Given the description of an element on the screen output the (x, y) to click on. 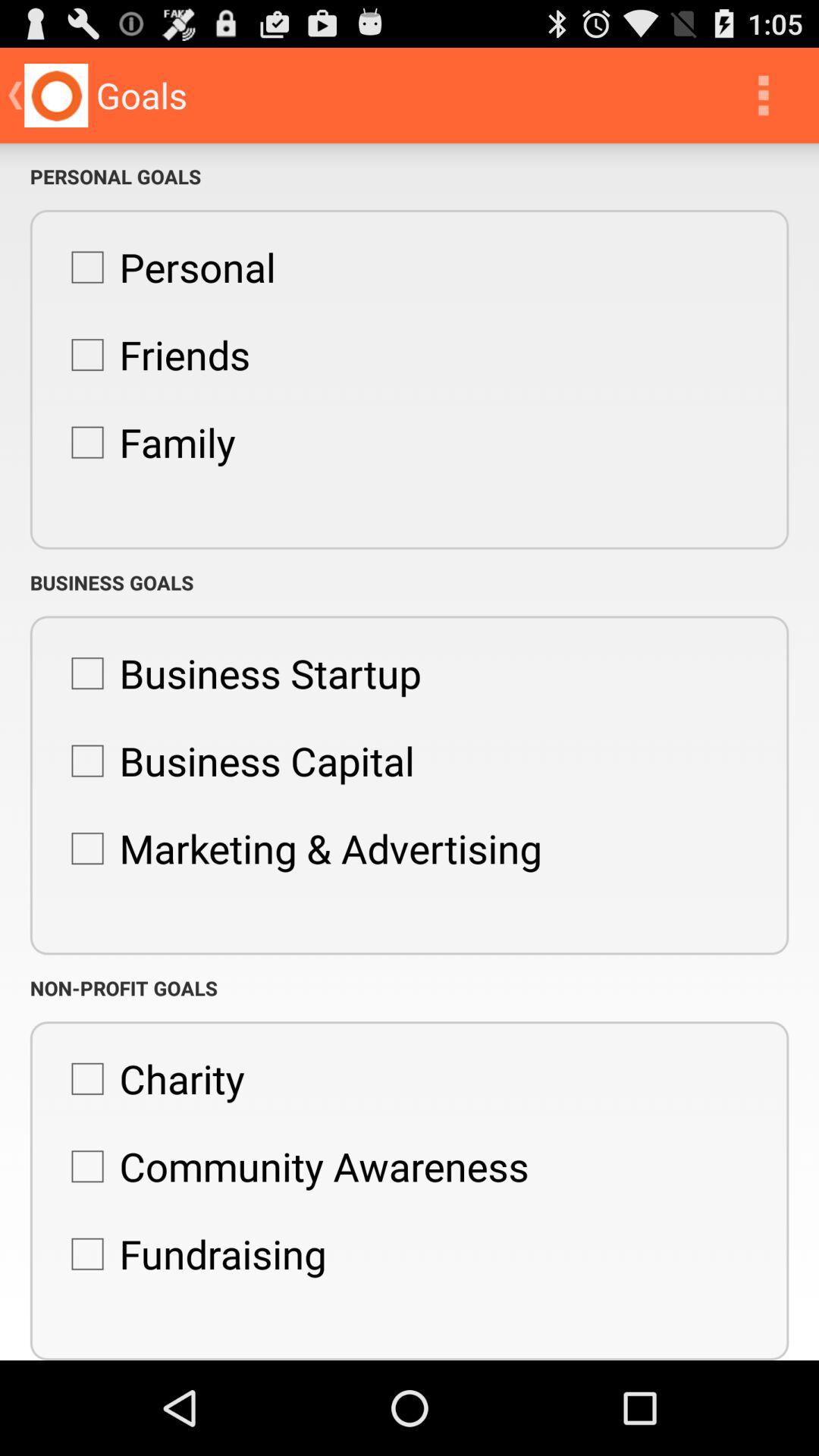
flip to the business startup (238, 673)
